Given the description of an element on the screen output the (x, y) to click on. 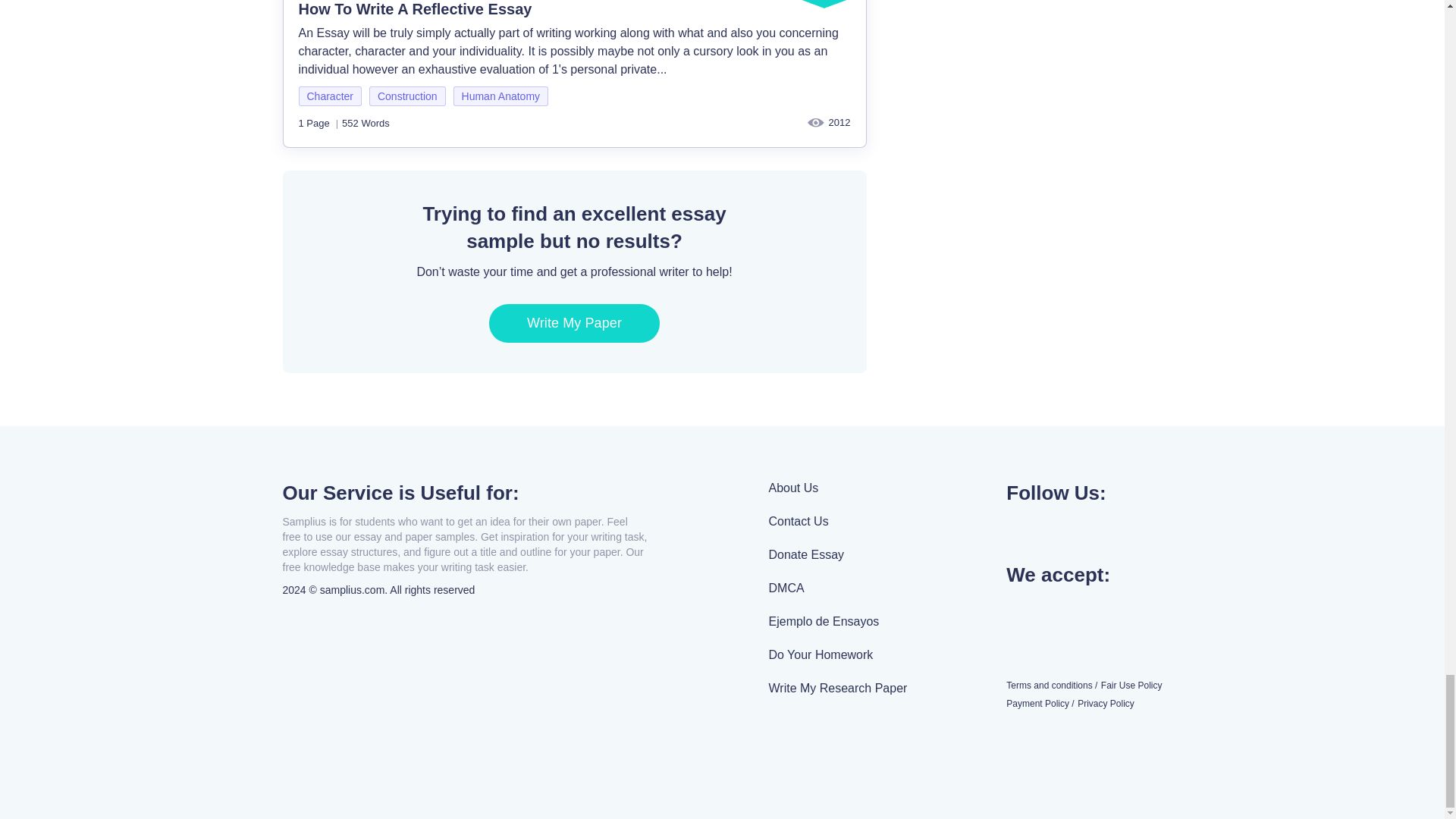
DMCA.com Protection Status (837, 731)
